Given the description of an element on the screen output the (x, y) to click on. 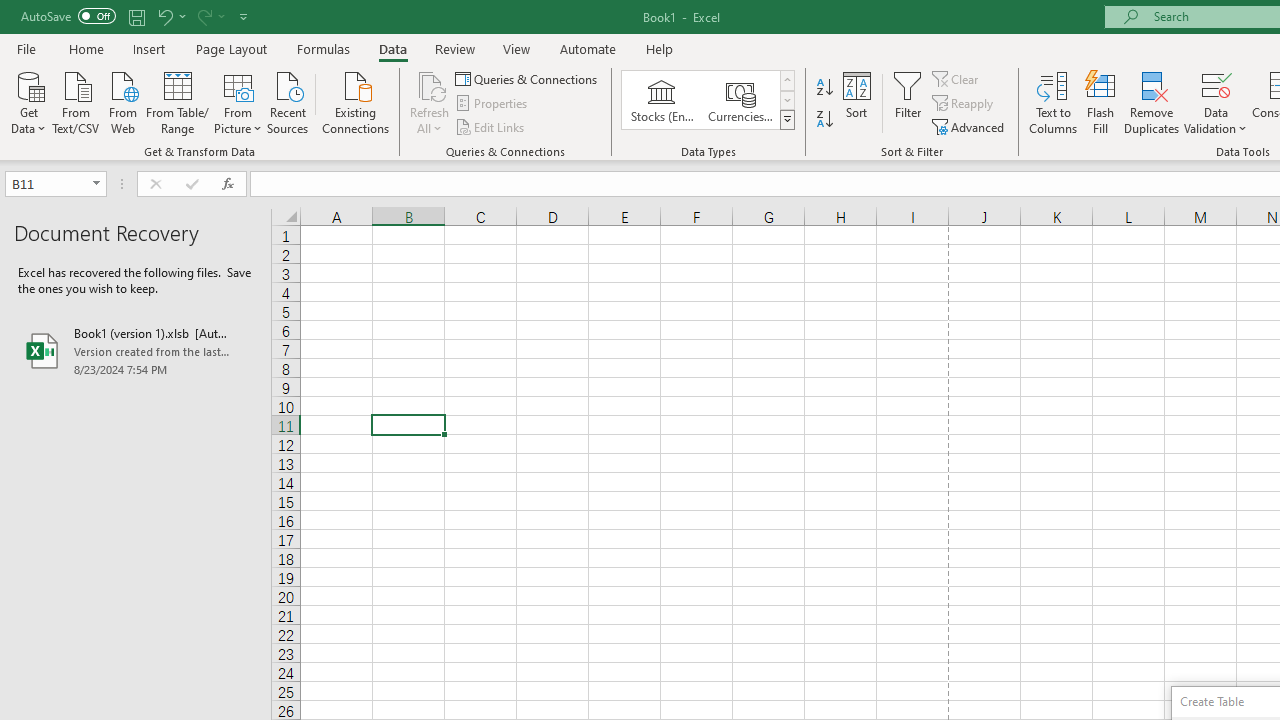
From Table/Range (177, 101)
Clear (957, 78)
Row Down (786, 100)
From Web (122, 101)
From Text/CSV (75, 101)
Sort A to Z (824, 87)
Reapply (964, 103)
